Given the description of an element on the screen output the (x, y) to click on. 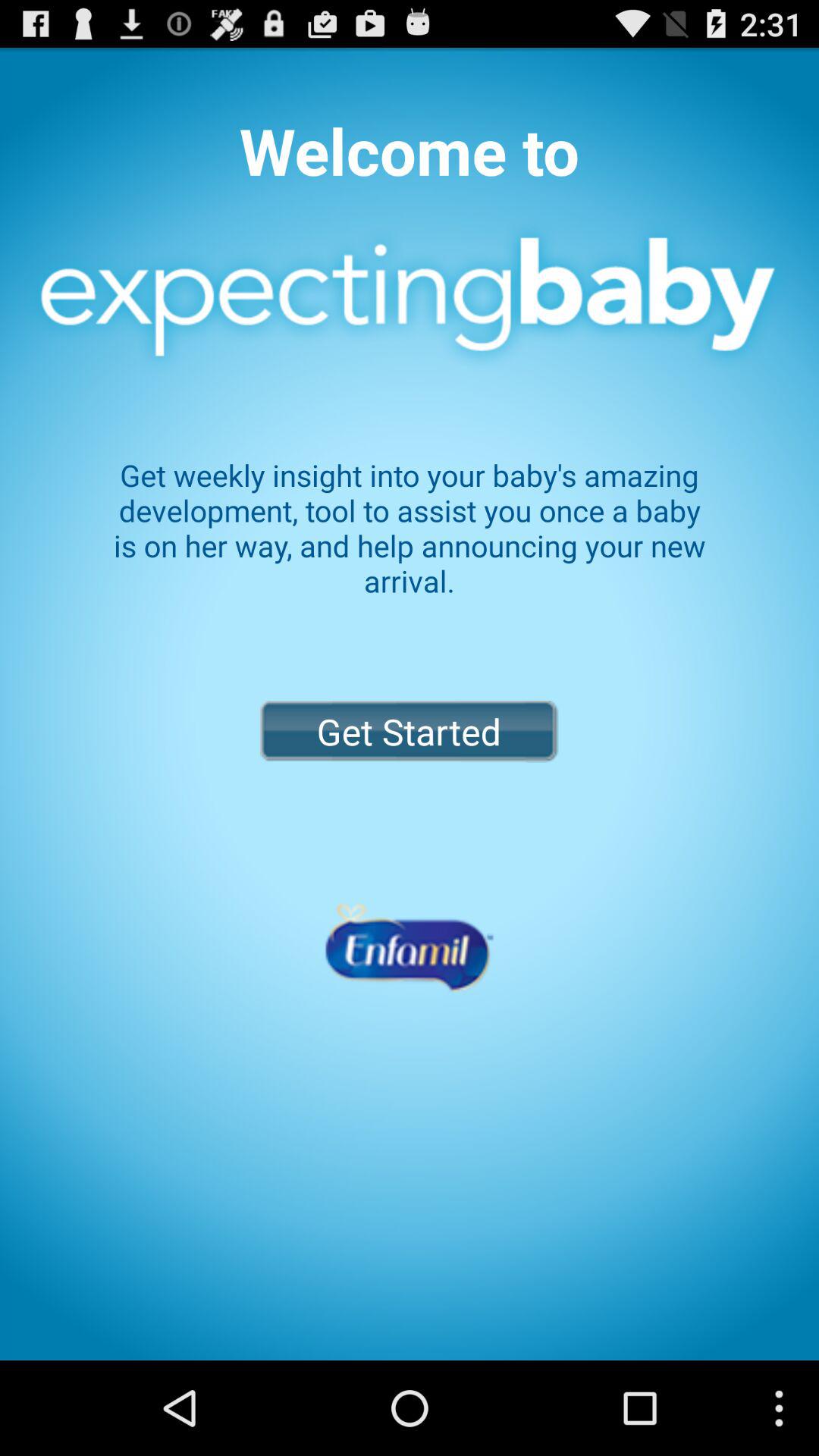
tap item below get weekly insight icon (408, 731)
